Given the description of an element on the screen output the (x, y) to click on. 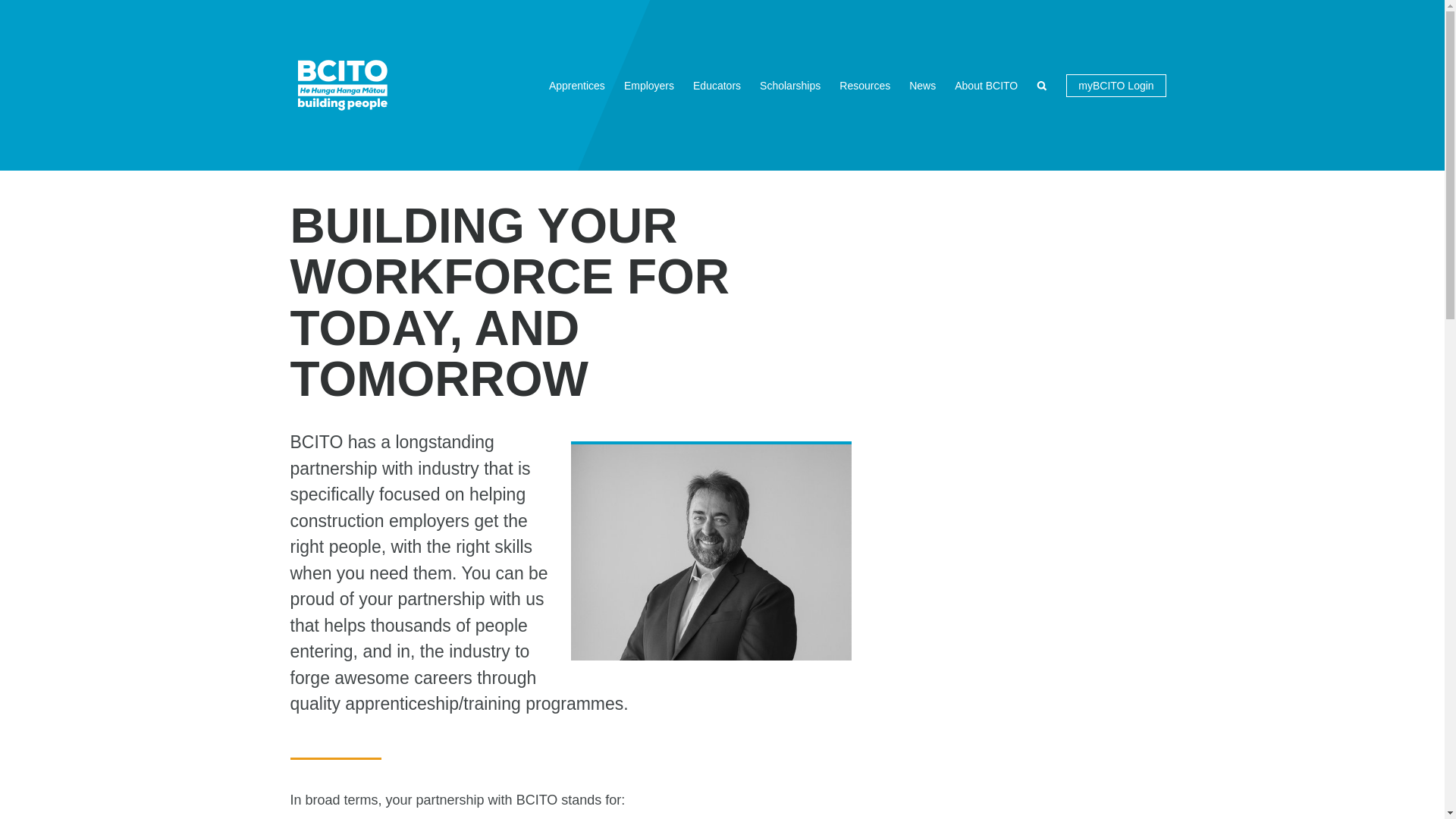
myBCITO Login (1115, 85)
Resources (864, 85)
Educators (716, 85)
News (922, 85)
Scholarships (790, 85)
Apprentices (576, 85)
About BCITO (986, 85)
Employers (648, 85)
